Given the description of an element on the screen output the (x, y) to click on. 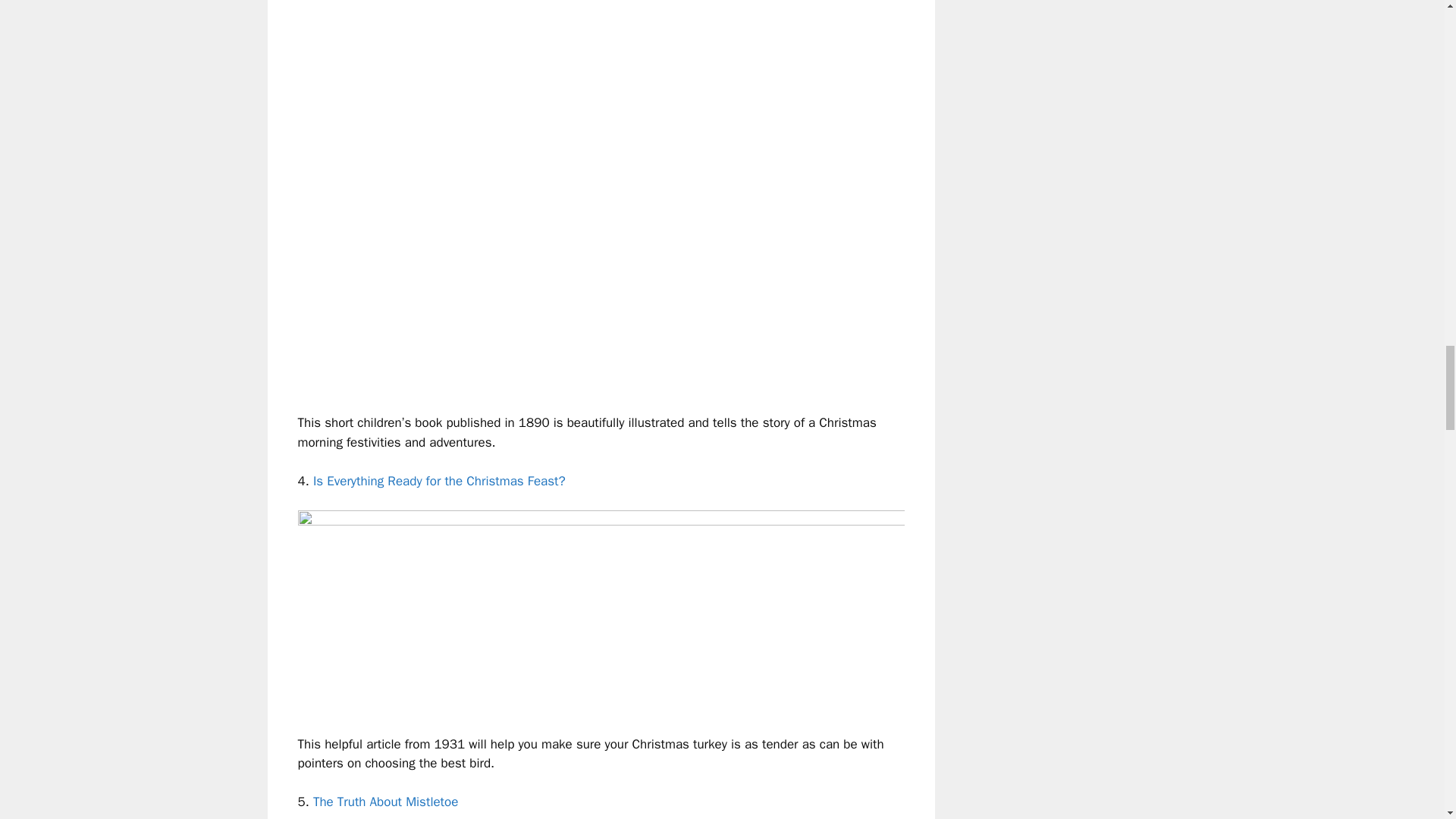
The Truth About Mistletoe (385, 801)
Is Everything Ready for the Christmas Feast? (439, 480)
